Given the description of an element on the screen output the (x, y) to click on. 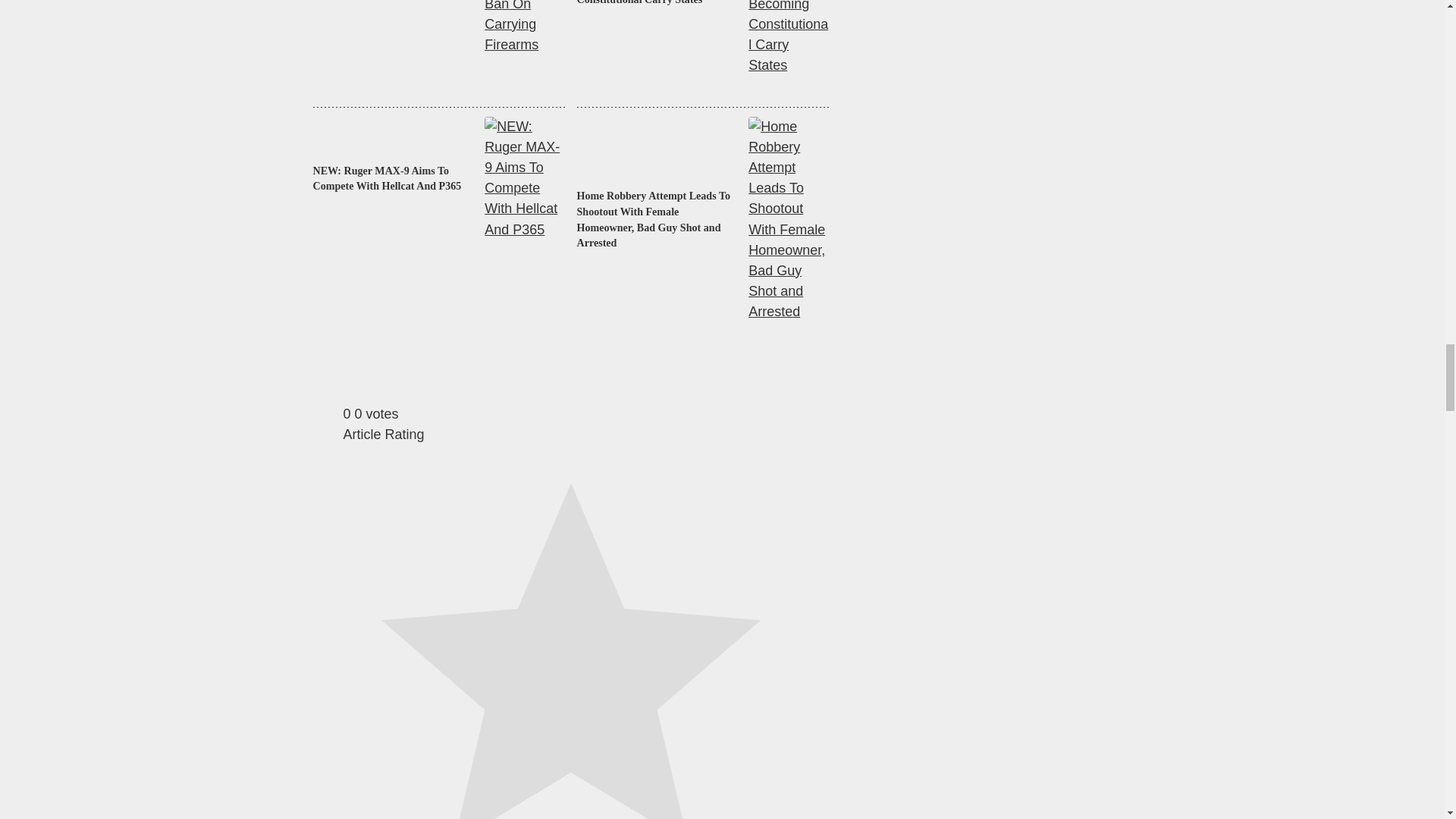
NEW: Ruger MAX-9 Aims To Compete With Hellcat And P365 (392, 178)
